Given the description of an element on the screen output the (x, y) to click on. 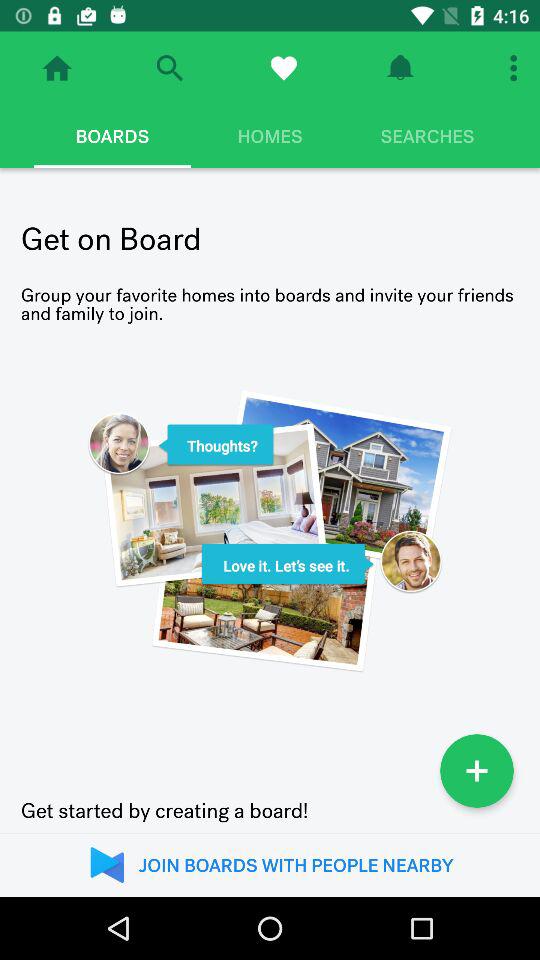
go to home screen (57, 68)
